Given the description of an element on the screen output the (x, y) to click on. 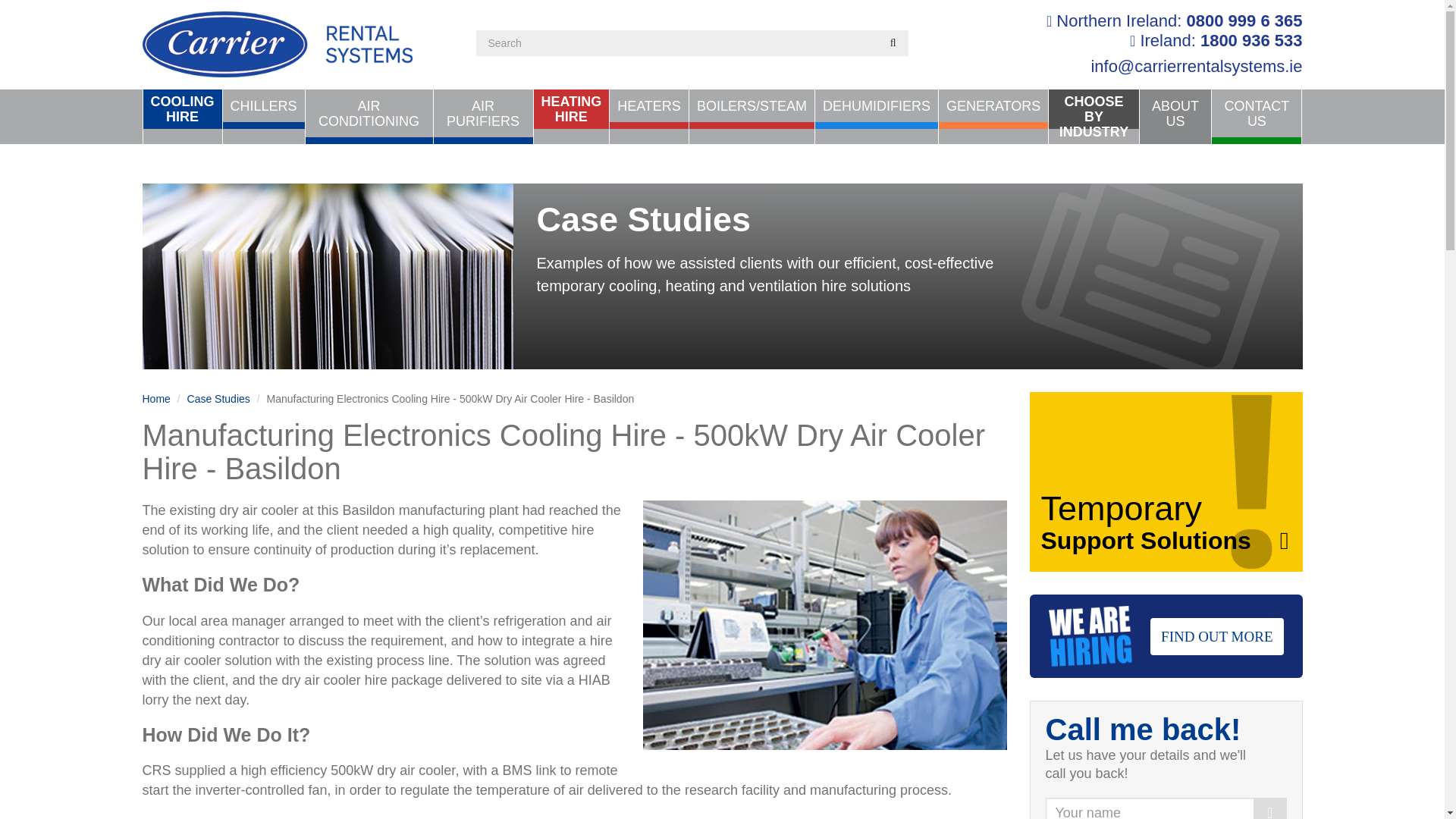
CHILLERS (181, 108)
0800 999 6 365 (263, 108)
1800 936 533 (1244, 20)
AIR CONDITIONING (1251, 40)
